Given the description of an element on the screen output the (x, y) to click on. 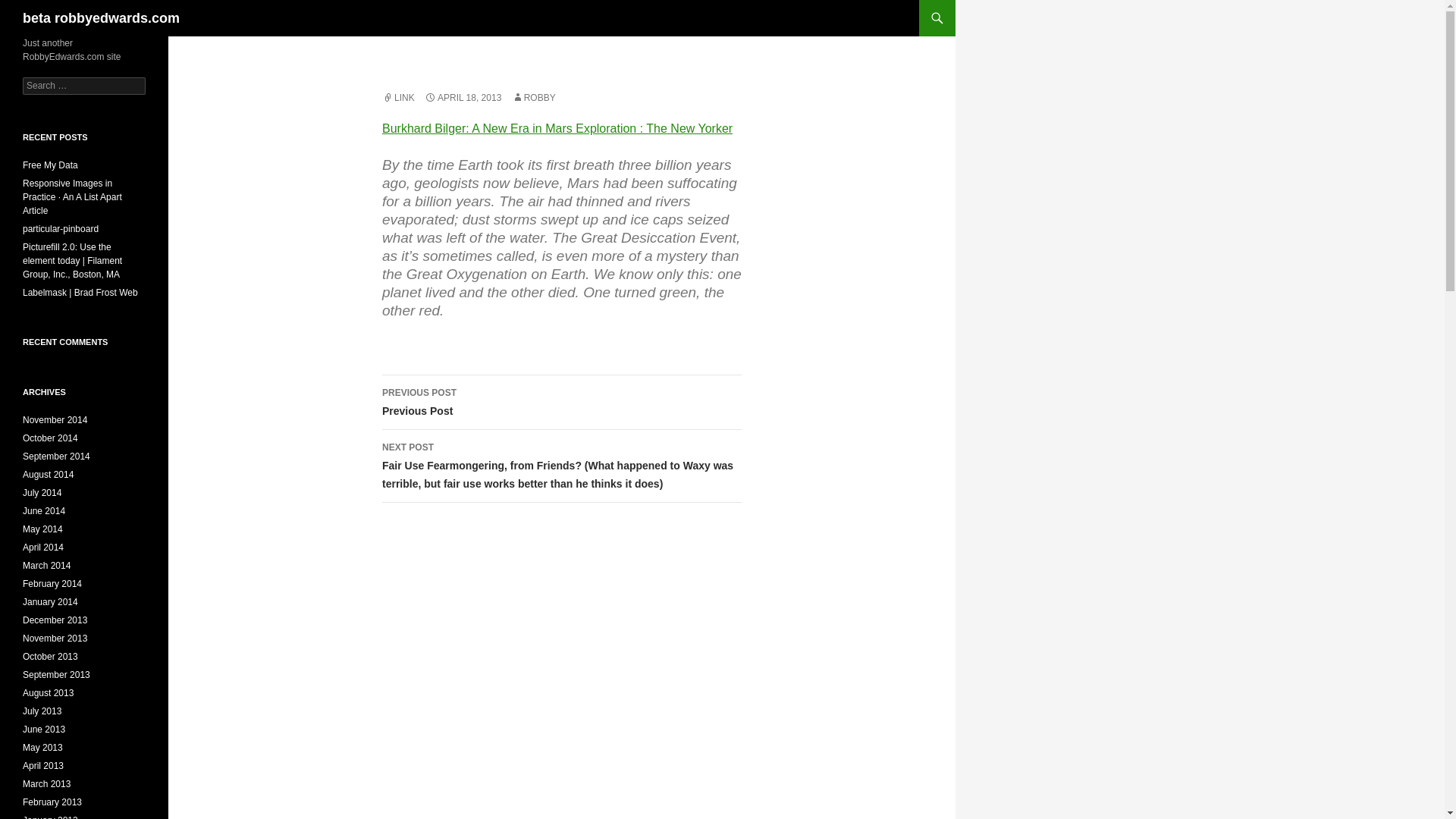
February 2014 (52, 583)
July 2014 (42, 492)
LINK (397, 97)
June 2013 (561, 402)
September 2013 (44, 728)
March 2013 (56, 674)
December 2013 (46, 783)
January 2014 (55, 620)
Free My Data (50, 602)
